Given the description of an element on the screen output the (x, y) to click on. 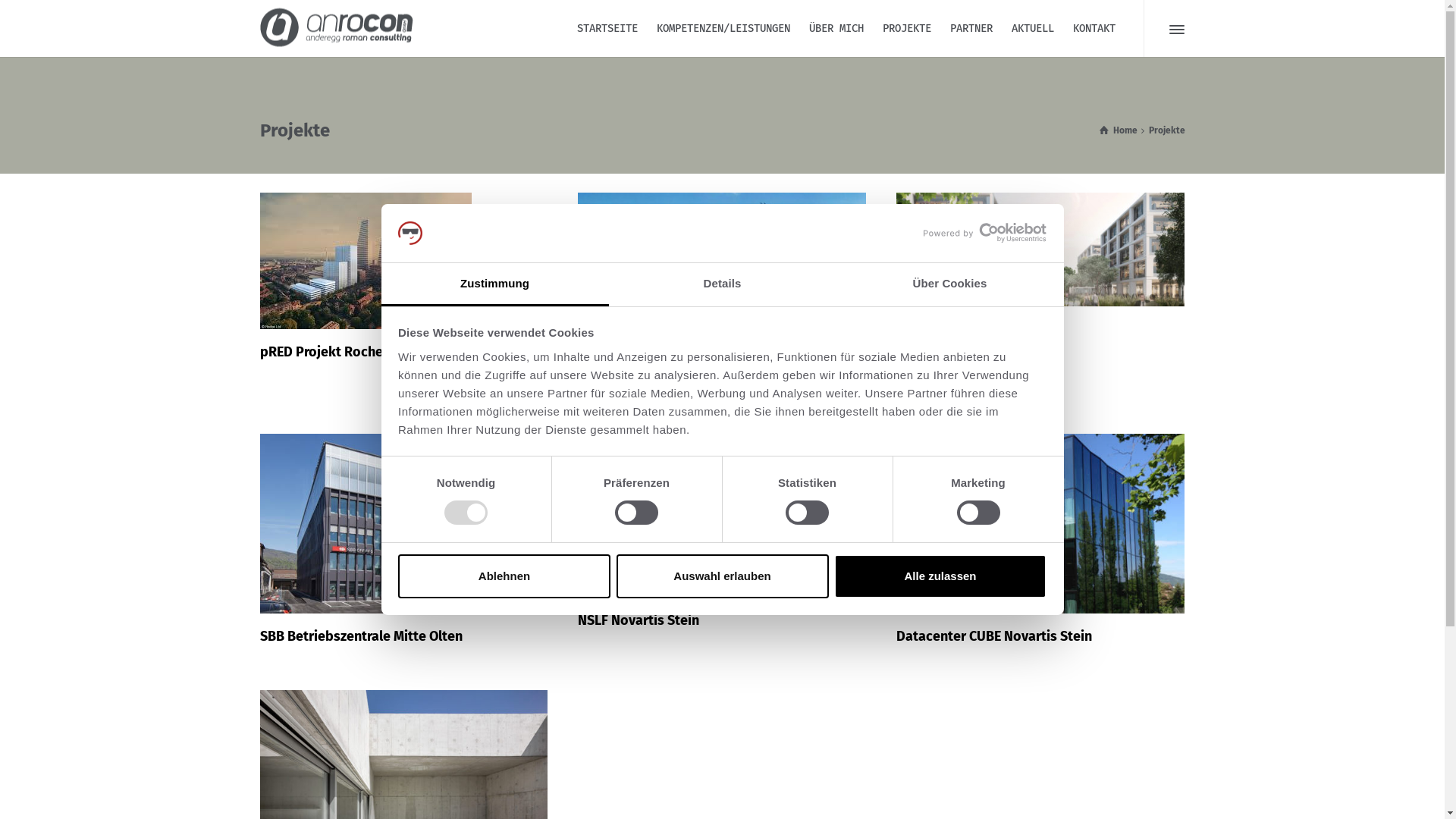
SBB Betriebszentrale Mitte Olten Element type: text (360, 635)
KOMPETENZEN/LEISTUNGEN Element type: text (723, 28)
Alle zulassen Element type: text (940, 576)
AKTUELL Element type: text (1032, 28)
Auswahl erlauben Element type: text (721, 576)
H4IT Roche Kaiseraugst Element type: text (969, 328)
Datacenter CUBE Novartis Stein Element type: text (994, 635)
PROJEKTE Element type: text (907, 28)
H4IT Roche Kaiseraugst Element type: hover (1040, 249)
Home Element type: text (1118, 130)
pRED Projekt Roche Basel Element type: hover (403, 260)
NSLF Novartis Stein Element type: text (638, 619)
PARTNER Element type: text (970, 28)
NSLF Novartis Stein Element type: hover (721, 515)
Datacenter CUBE Novartis Stein Element type: hover (1040, 523)
CSL Behring Lengnau Element type: text (641, 378)
CSL Behring Lengnau Element type: hover (721, 274)
Zustimmung Element type: text (494, 284)
Details Element type: text (721, 284)
Ablehnen Element type: text (504, 576)
KONTAKT Element type: text (1093, 28)
SBB Betriebszentrale Mitte Olten Element type: hover (403, 523)
STARTSEITE Element type: text (606, 28)
pRED Projekt Roche Basel Element type: text (339, 351)
